Given the description of an element on the screen output the (x, y) to click on. 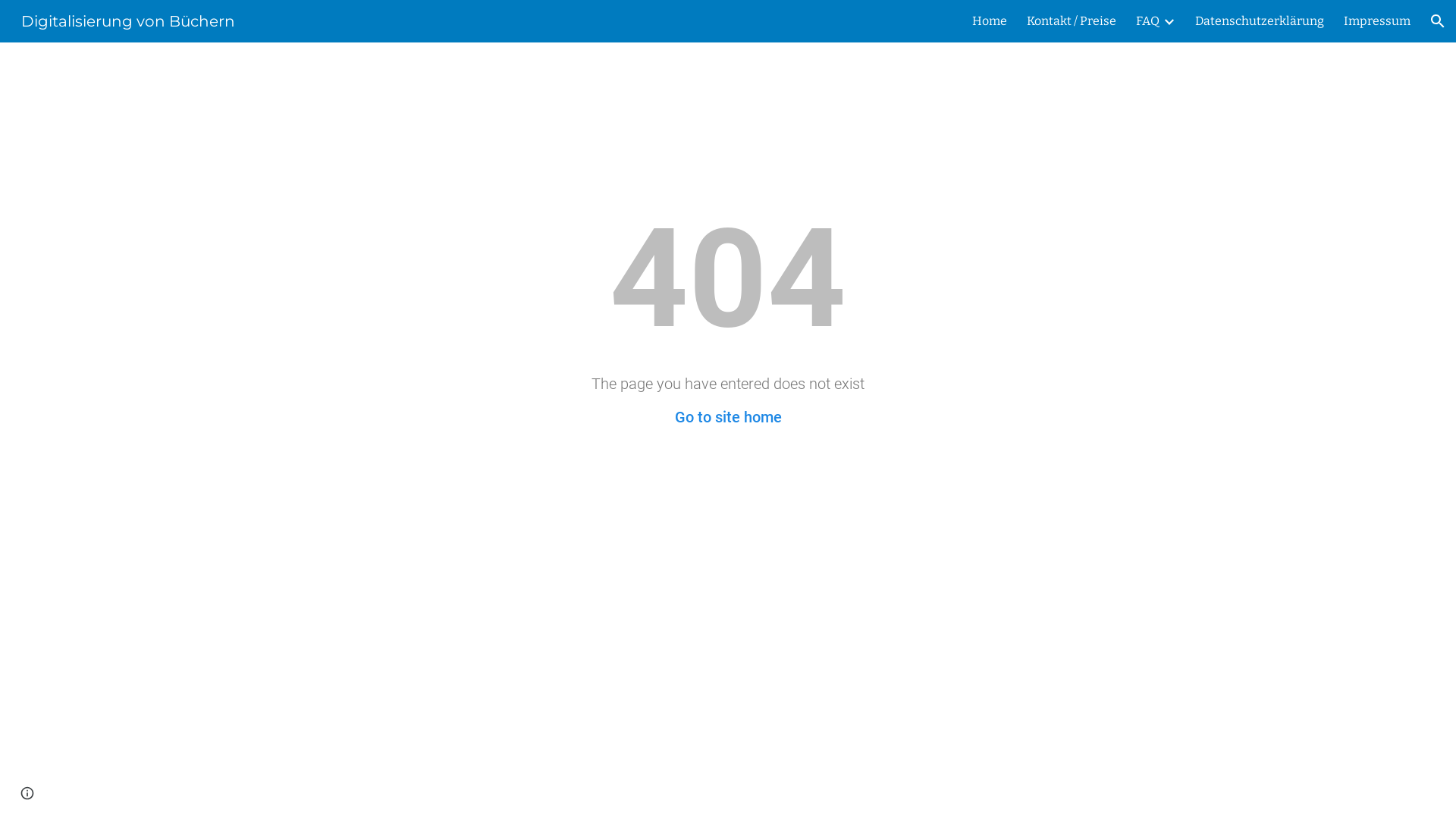
Kontakt / Preise Element type: text (1071, 20)
Home Element type: text (989, 20)
Go to site home Element type: text (727, 416)
FAQ Element type: text (1147, 20)
Impressum Element type: text (1376, 20)
Expand/Collapse Element type: hover (1168, 20)
